Given the description of an element on the screen output the (x, y) to click on. 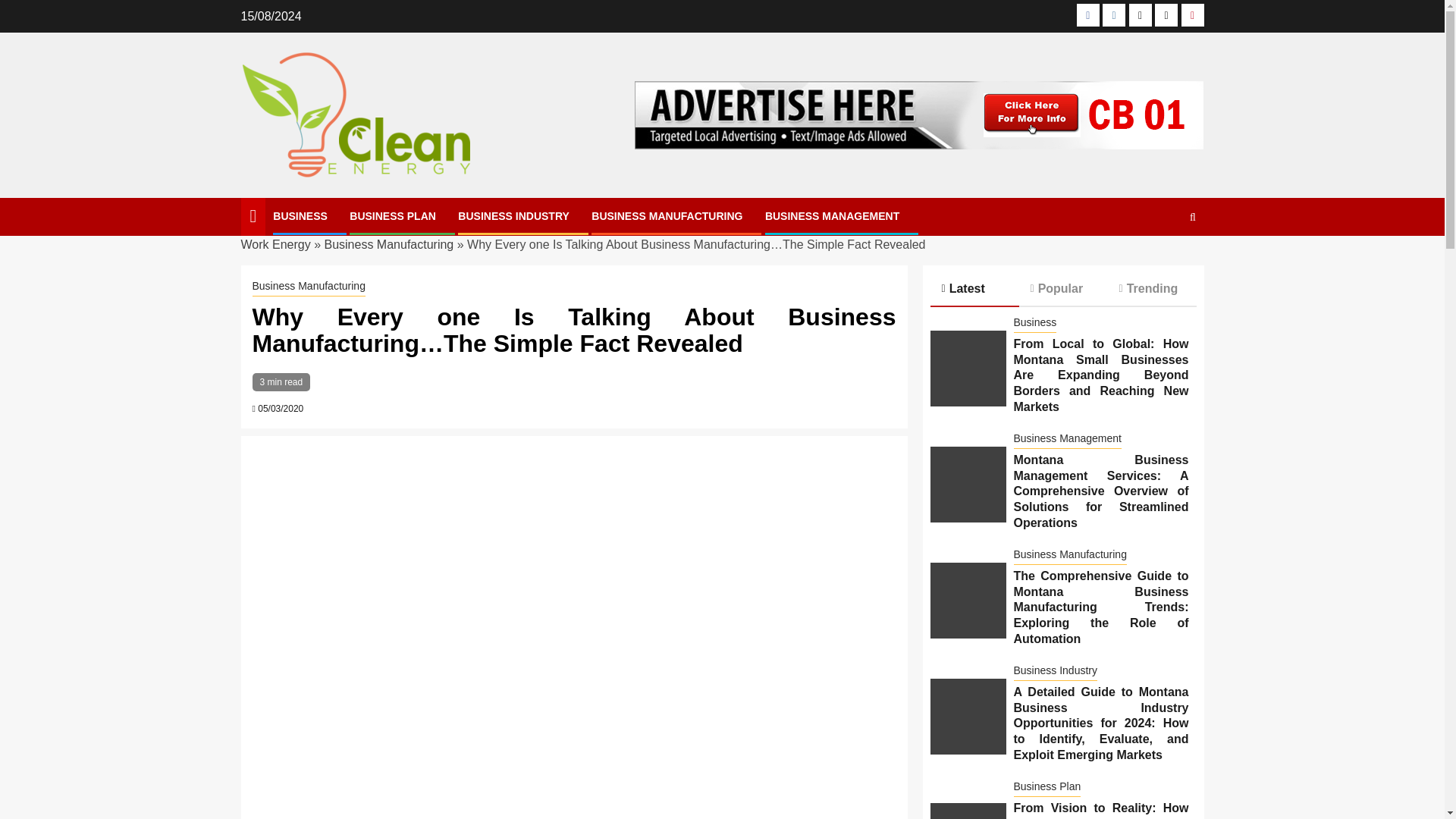
Business (1035, 323)
Search (1163, 262)
Work Energy (276, 244)
BUSINESS PLAN (392, 215)
BUSINESS MANUFACTURING (666, 215)
Twitter (1140, 15)
